Given the description of an element on the screen output the (x, y) to click on. 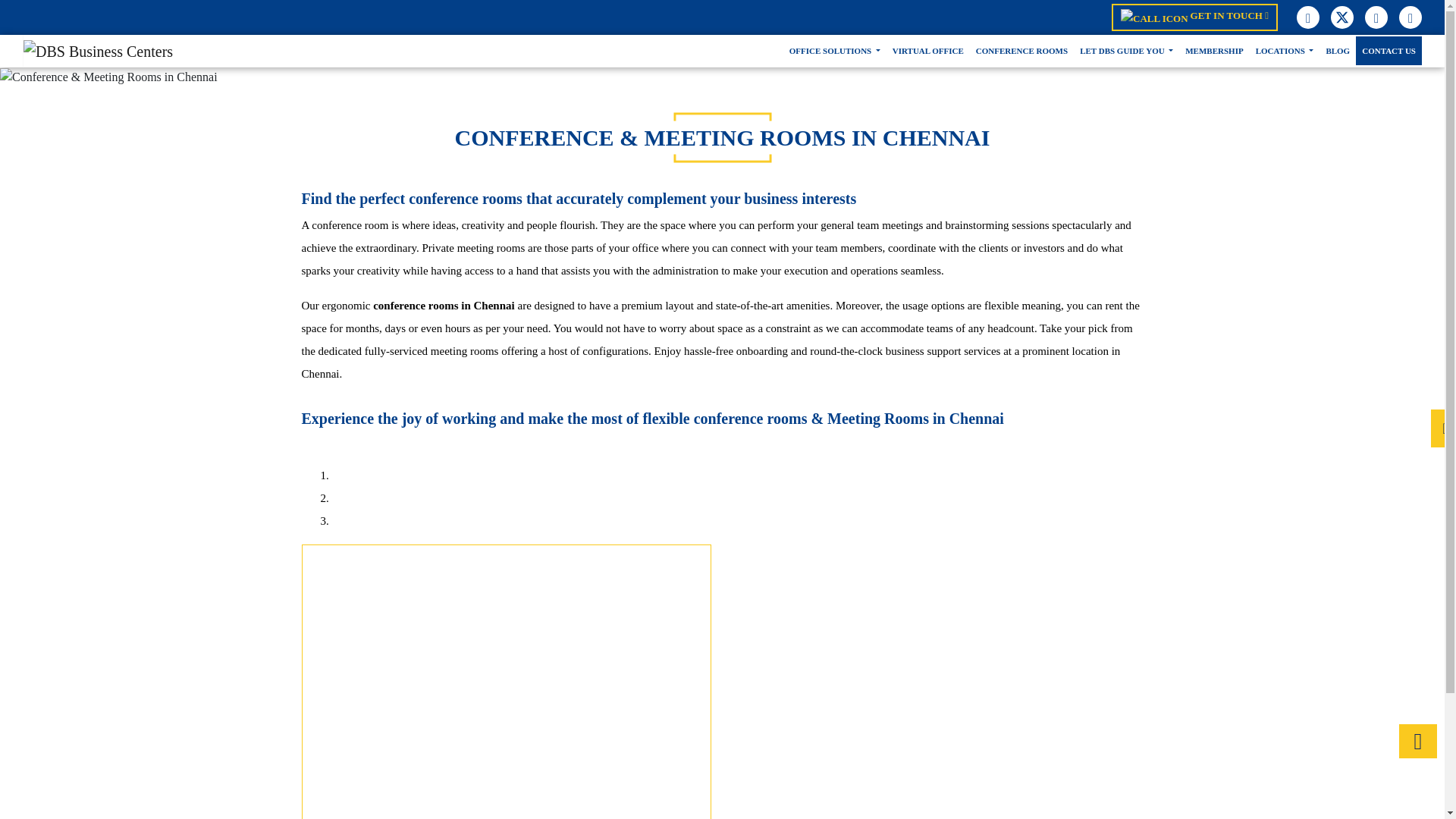
OFFICE SOLUTIONS (834, 50)
CONTACT US (1388, 50)
Conference Rooms (1021, 50)
Virtual Office (927, 50)
CONFERENCE ROOMS (1021, 50)
BLOG (1337, 50)
Locations (1284, 50)
LET DBS GUIDE YOU (1126, 50)
Office Solutions (834, 50)
MEMBERSHIP (1214, 50)
LOCATIONS (1284, 50)
Membership (1214, 50)
Let DBS Guide You (1126, 50)
 GET IN TOUCH  (1195, 17)
VIRTUAL OFFICE (927, 50)
